Given the description of an element on the screen output the (x, y) to click on. 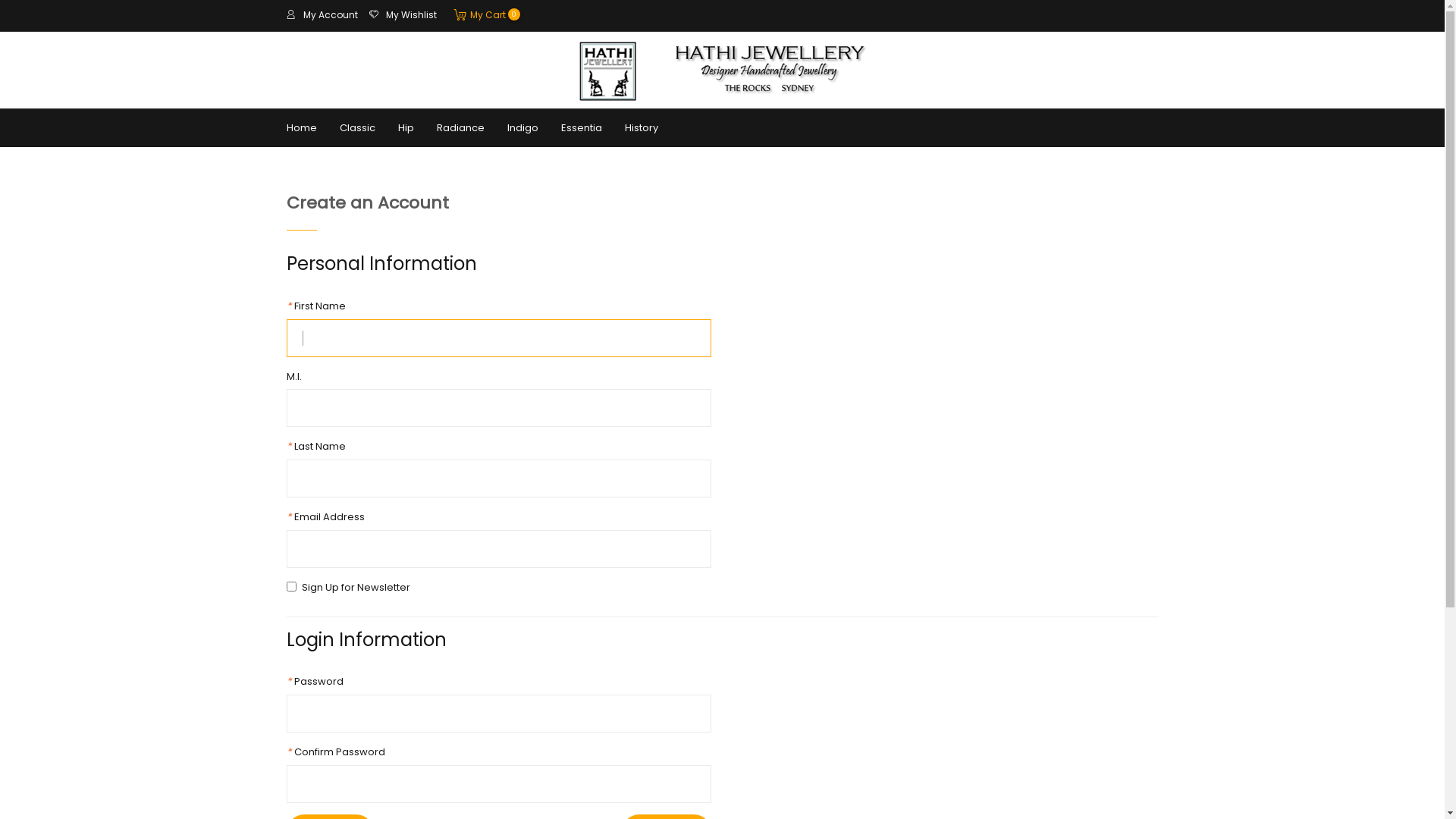
Classic Element type: text (356, 128)
First Name Element type: hover (498, 338)
Radiance Element type: text (459, 128)
Email Address Element type: hover (498, 548)
Password Element type: hover (498, 713)
Hip Element type: text (405, 128)
Confirm Password Element type: hover (498, 784)
M.I. Element type: hover (498, 407)
Hathi Jewellery Element type: hover (722, 59)
My Account Element type: text (321, 14)
Indigo Element type: text (522, 128)
0 Element type: text (459, 13)
Last Name Element type: hover (498, 478)
Home Element type: text (300, 128)
History Element type: text (634, 128)
My Wishlist Element type: text (402, 14)
Sign Up for Newsletter Element type: hover (291, 586)
Essentia Element type: text (580, 128)
